Given the description of an element on the screen output the (x, y) to click on. 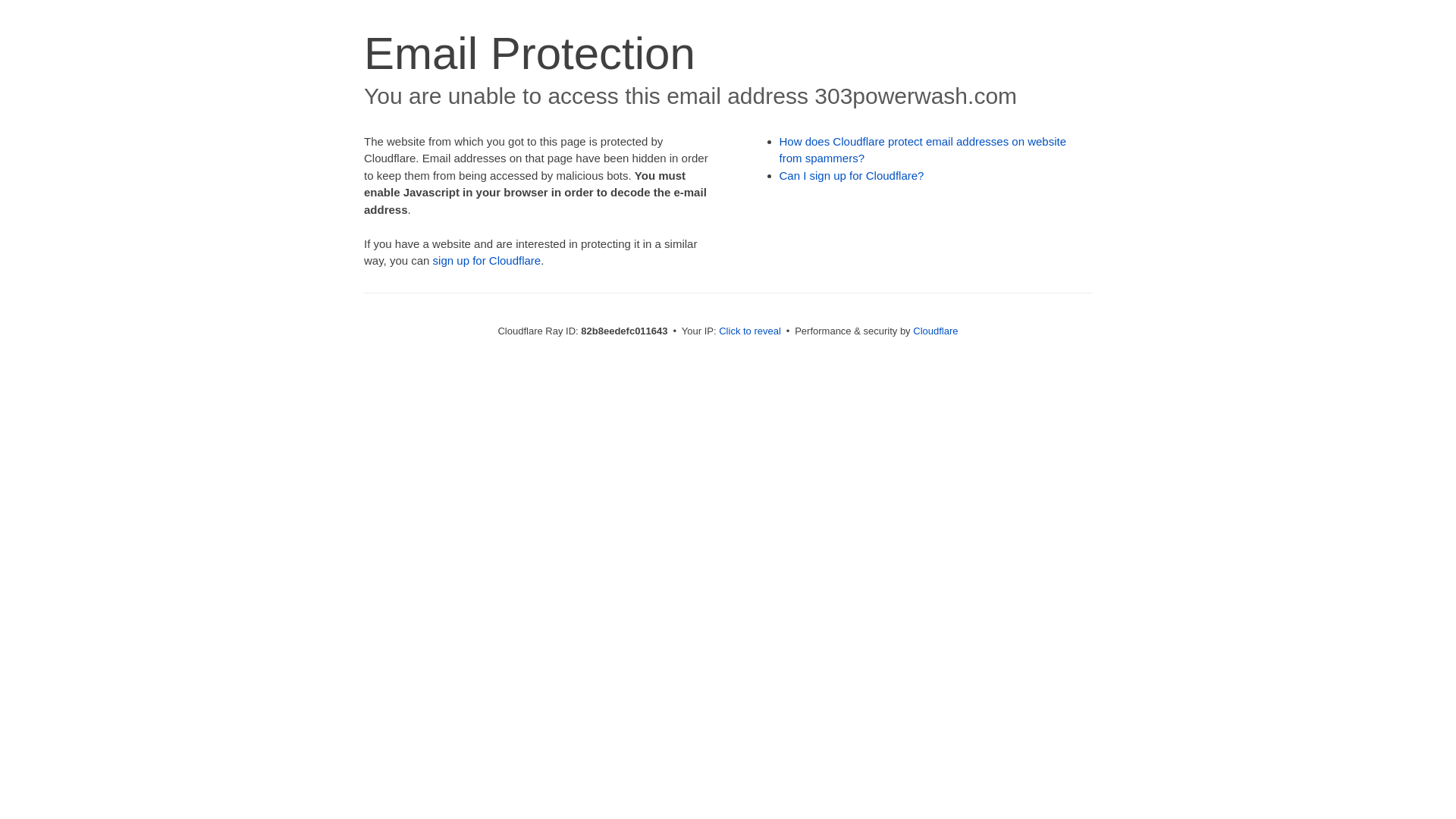
Click to reveal Element type: text (749, 330)
Can I sign up for Cloudflare? Element type: text (851, 175)
sign up for Cloudflare Element type: text (487, 260)
Cloudflare Element type: text (935, 330)
